Given the description of an element on the screen output the (x, y) to click on. 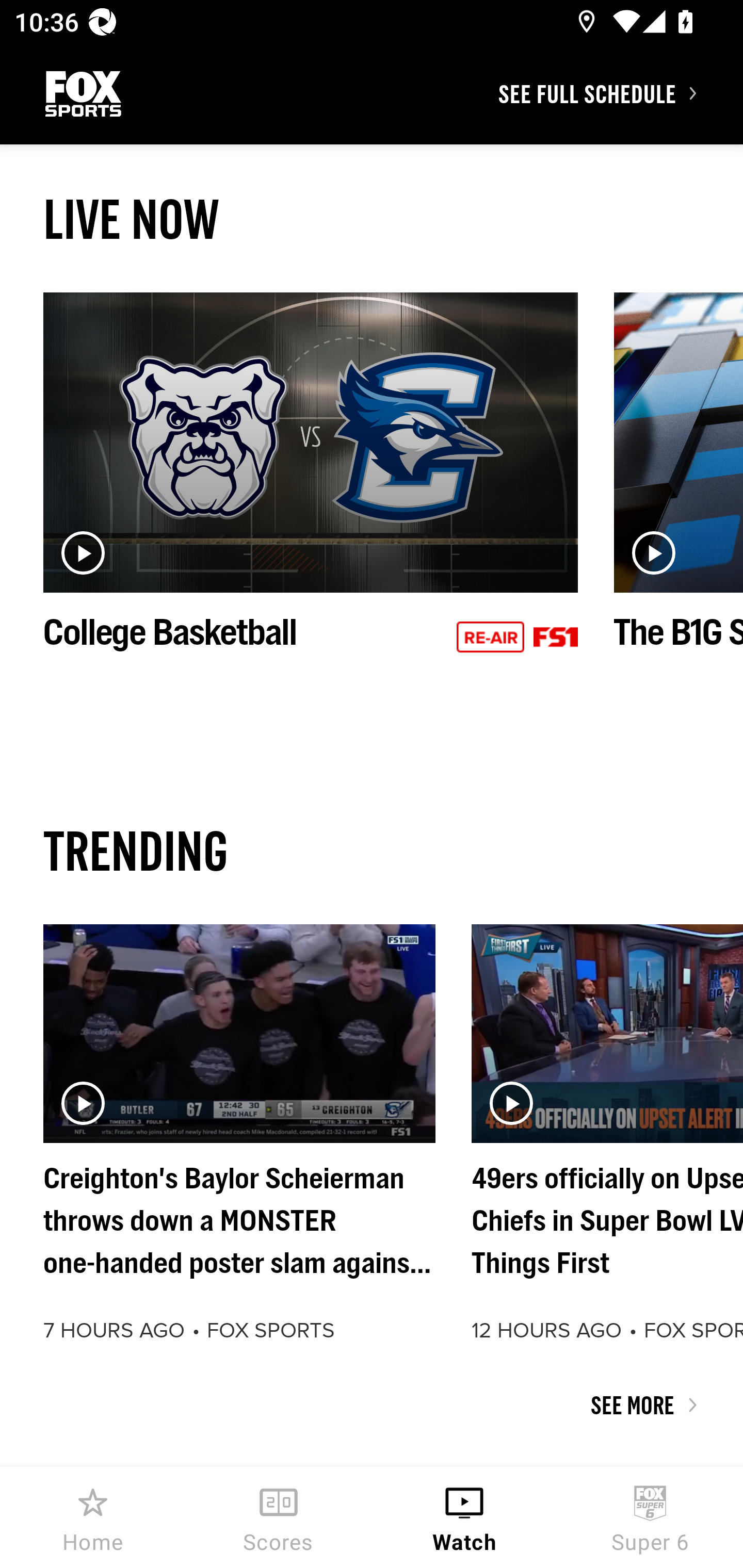
SEE FULL SCHEDULE (620, 93)
LIVE NOW (371, 218)
College Basketball (310, 494)
TRENDING (371, 850)
SEE MORE (371, 1404)
Home (92, 1517)
Scores (278, 1517)
Super 6 (650, 1517)
